Given the description of an element on the screen output the (x, y) to click on. 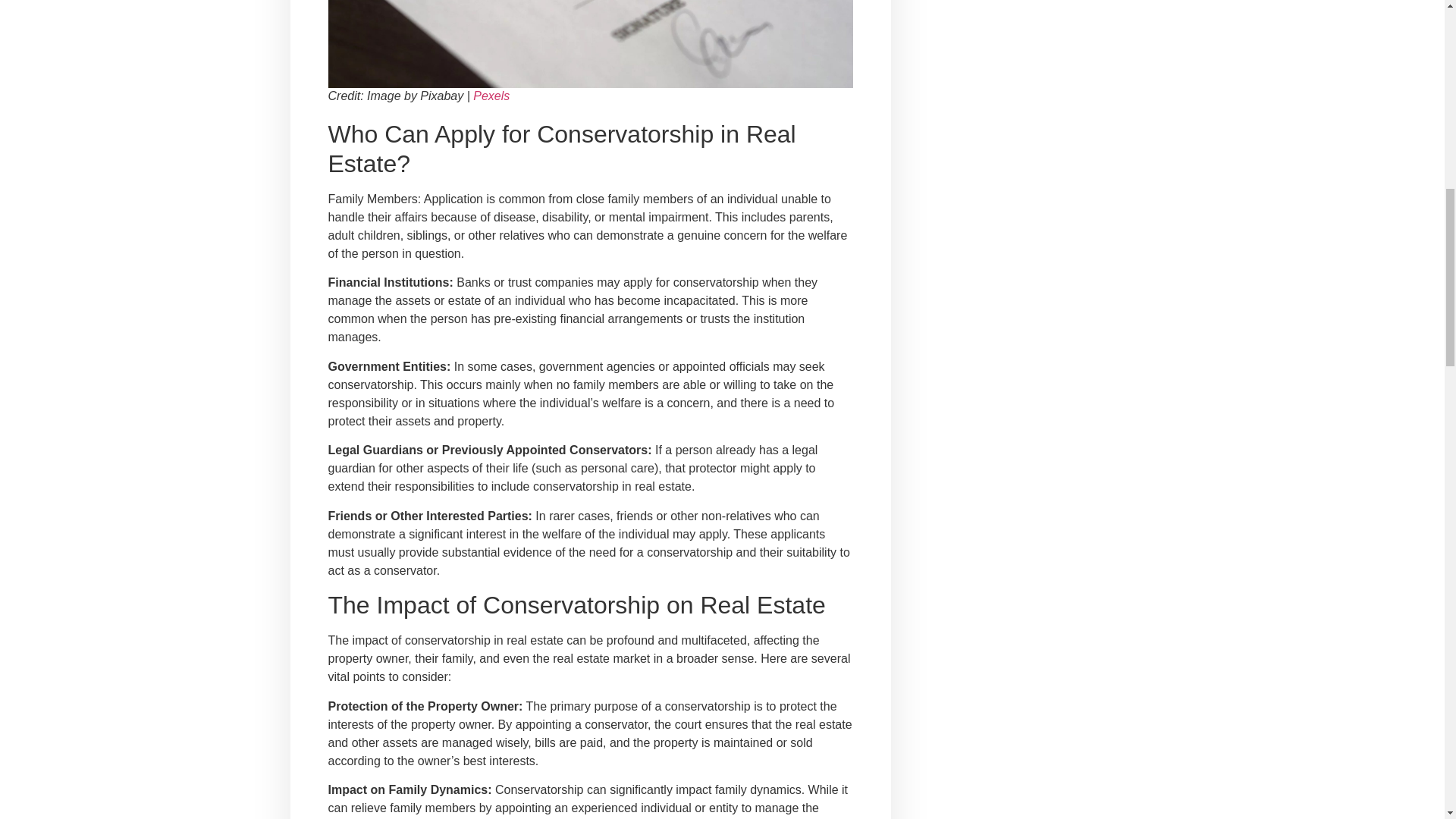
Pexels (491, 95)
